Given the description of an element on the screen output the (x, y) to click on. 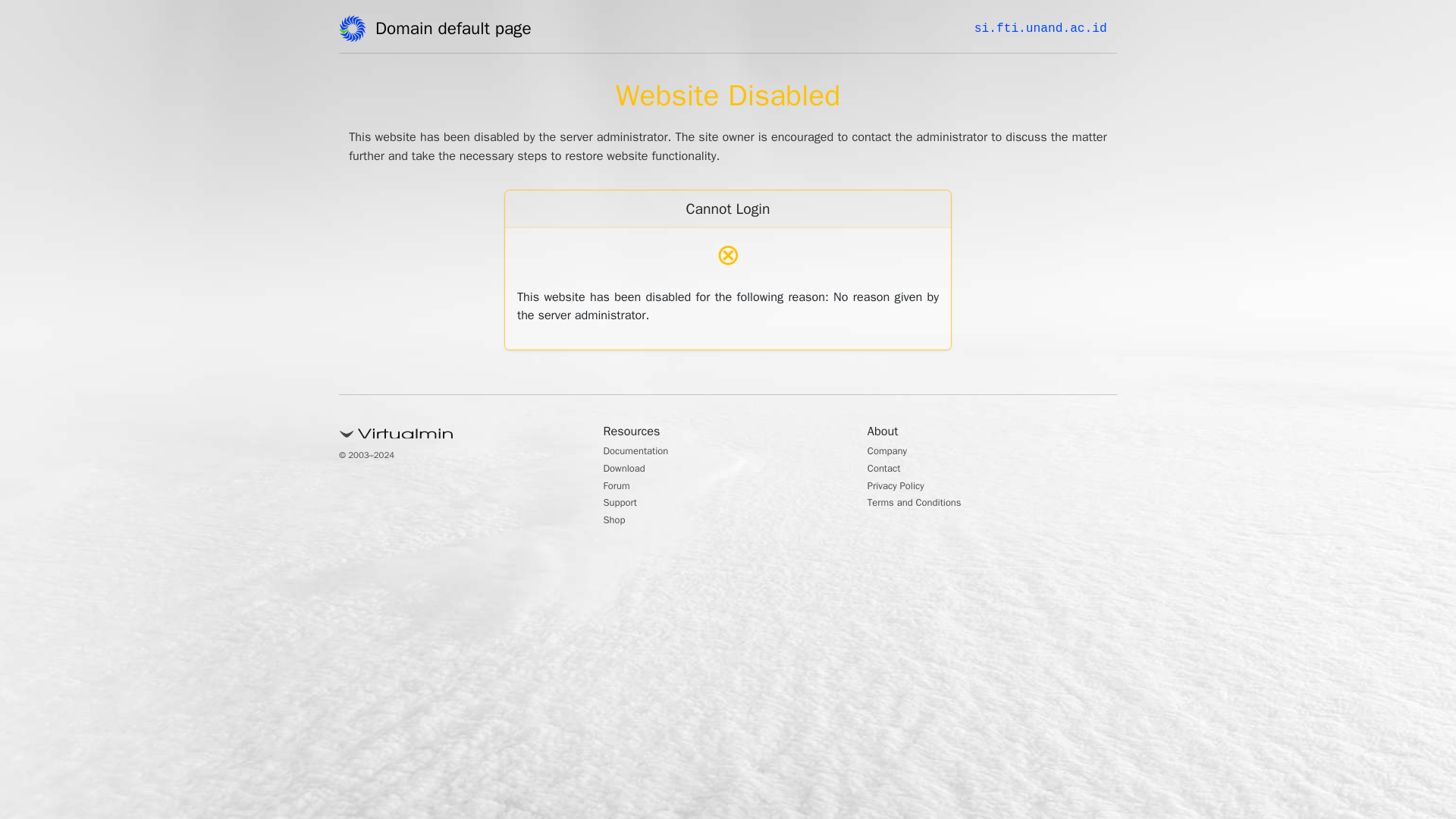
Domain default page (457, 31)
Terms and Conditions (925, 503)
Company (891, 452)
Contact (887, 469)
Forum (620, 487)
Documentation (644, 452)
Privacy Policy (902, 487)
Shop (617, 521)
Download (629, 469)
Support (624, 503)
